Given the description of an element on the screen output the (x, y) to click on. 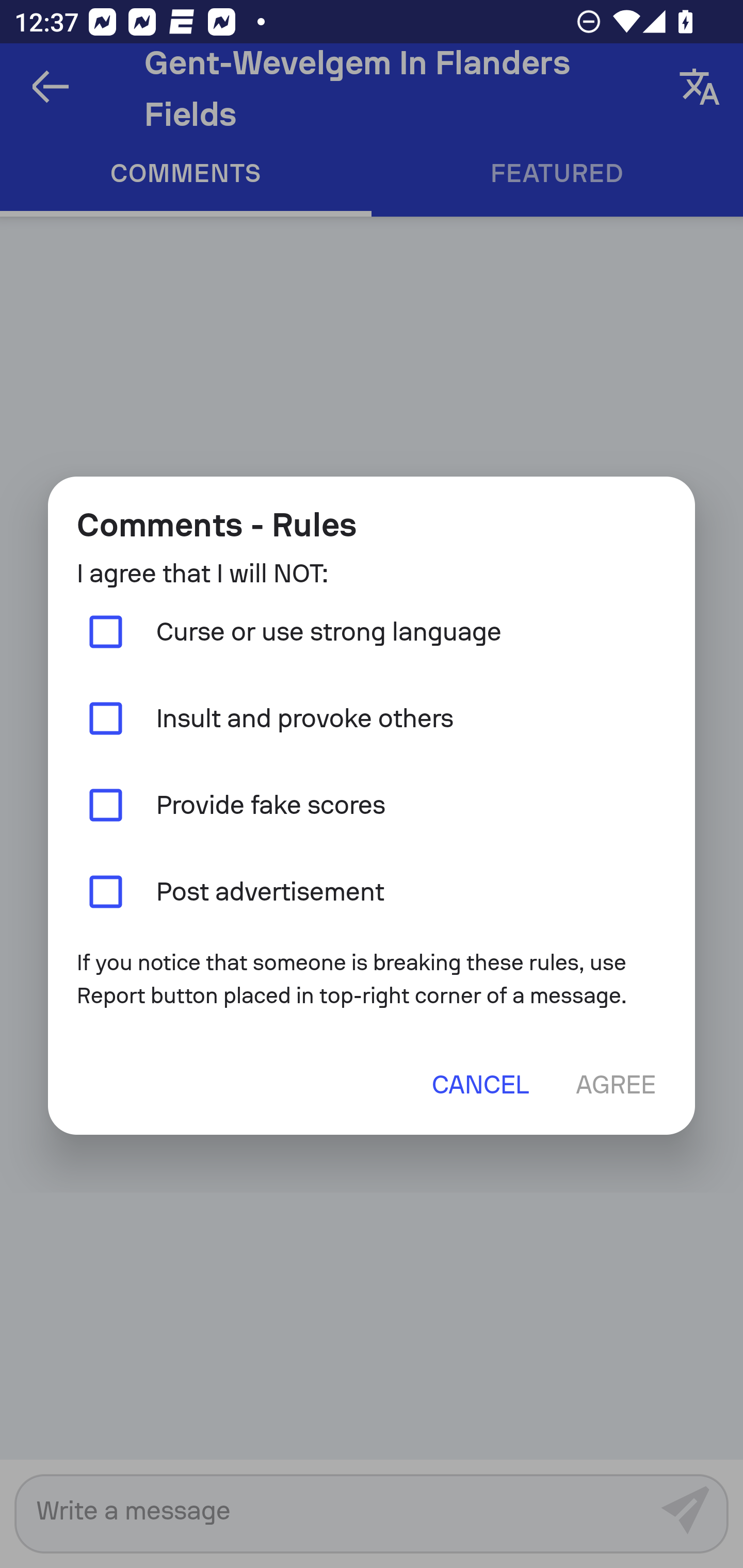
Curse or use strong language (371, 631)
Insult and provoke others (371, 718)
Provide fake scores (371, 805)
Post advertisement (371, 891)
CANCEL (479, 1084)
AGREE (615, 1084)
